Given the description of an element on the screen output the (x, y) to click on. 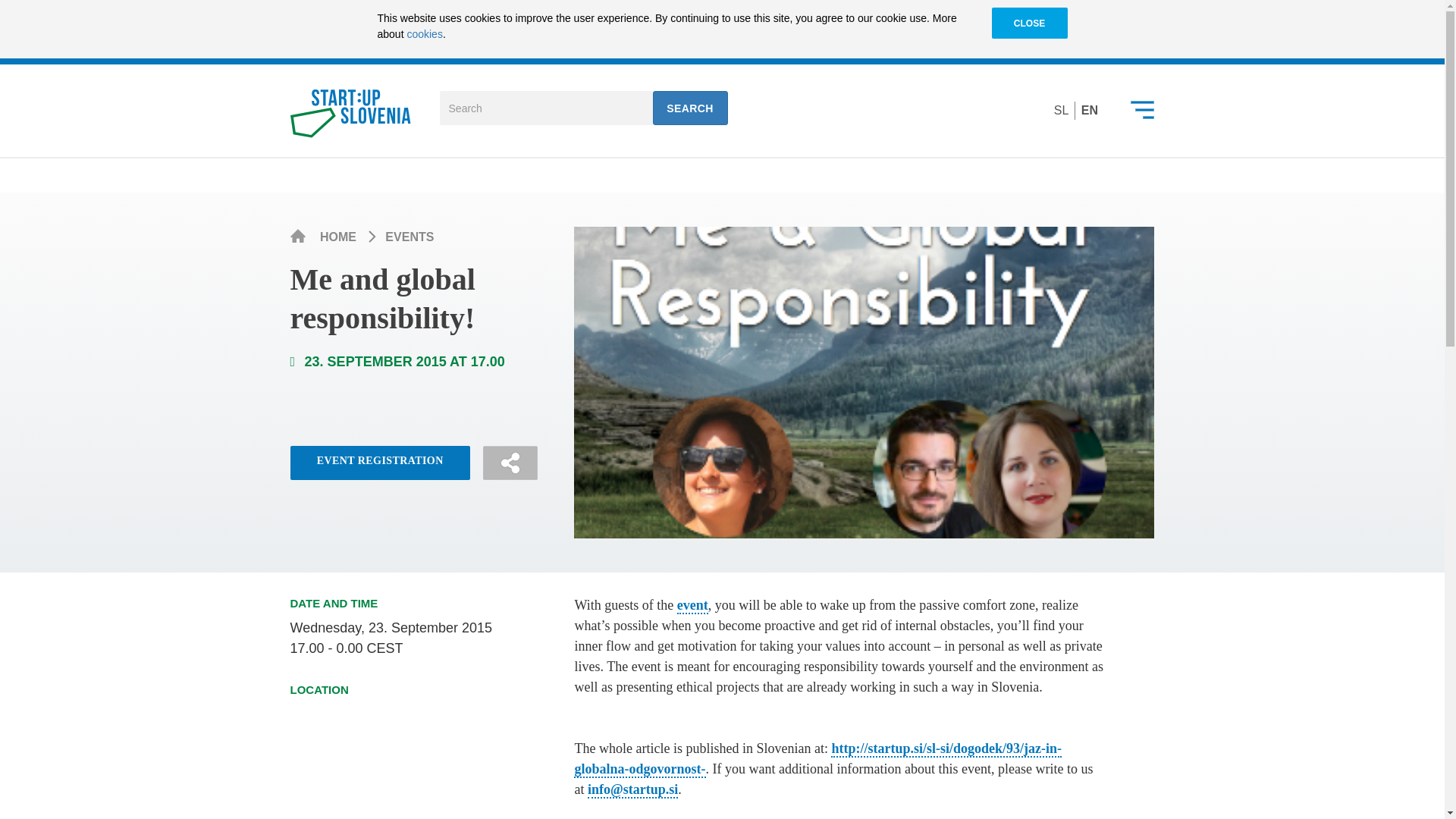
CLOSE (1029, 23)
EVENTS (409, 236)
SEARCH (690, 107)
event (692, 605)
HOME (339, 236)
EN (1089, 110)
EVENT REGISTRATION (378, 462)
SL (1061, 110)
cookies (424, 33)
